Given the description of an element on the screen output the (x, y) to click on. 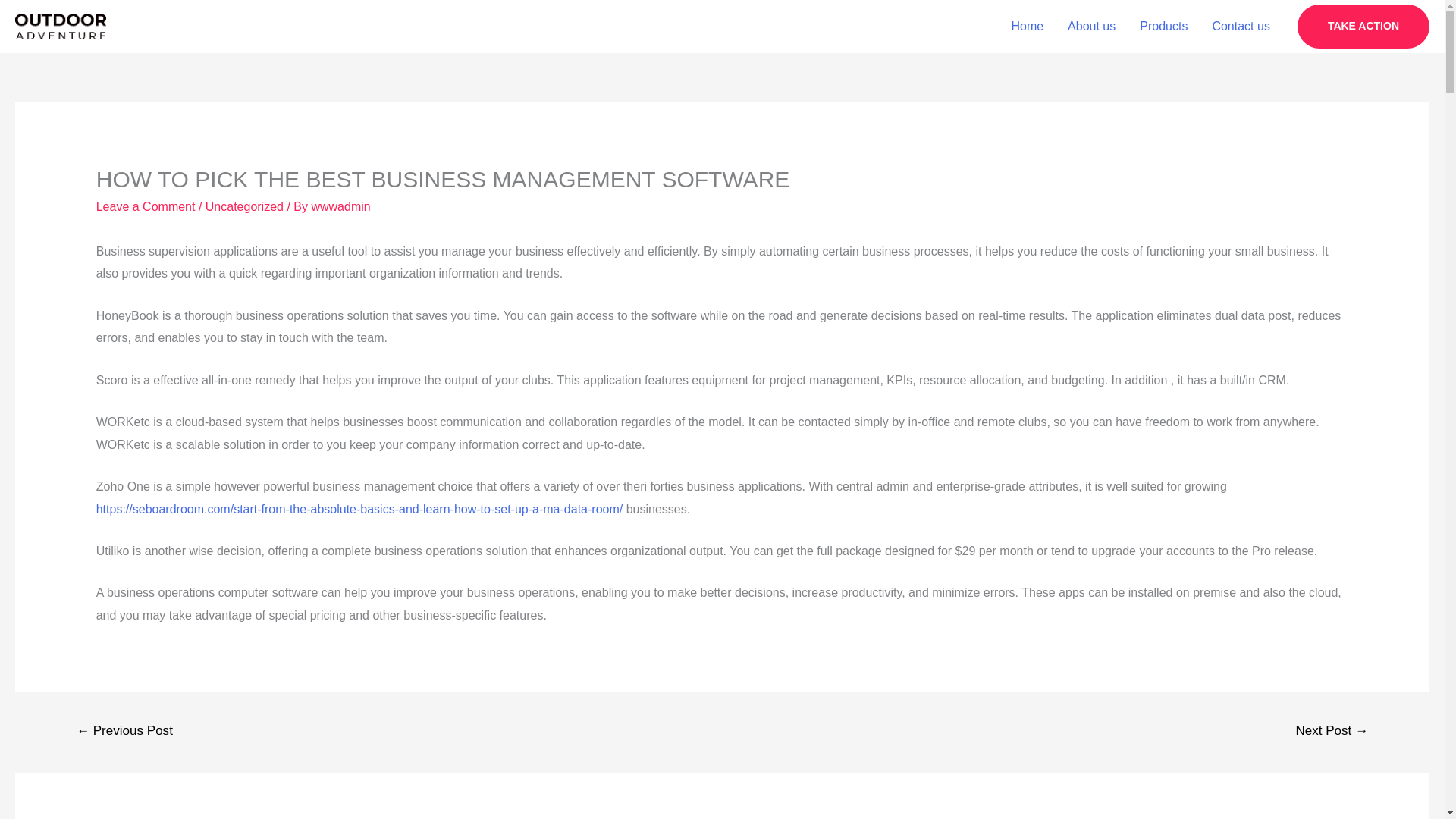
About us (1090, 26)
Products (1162, 26)
Uncategorized (244, 205)
Leave a Comment (145, 205)
Contact us (1240, 26)
Home (1026, 26)
TAKE ACTION (1363, 26)
wwwadmin (340, 205)
View all posts by wwwadmin (340, 205)
